Given the description of an element on the screen output the (x, y) to click on. 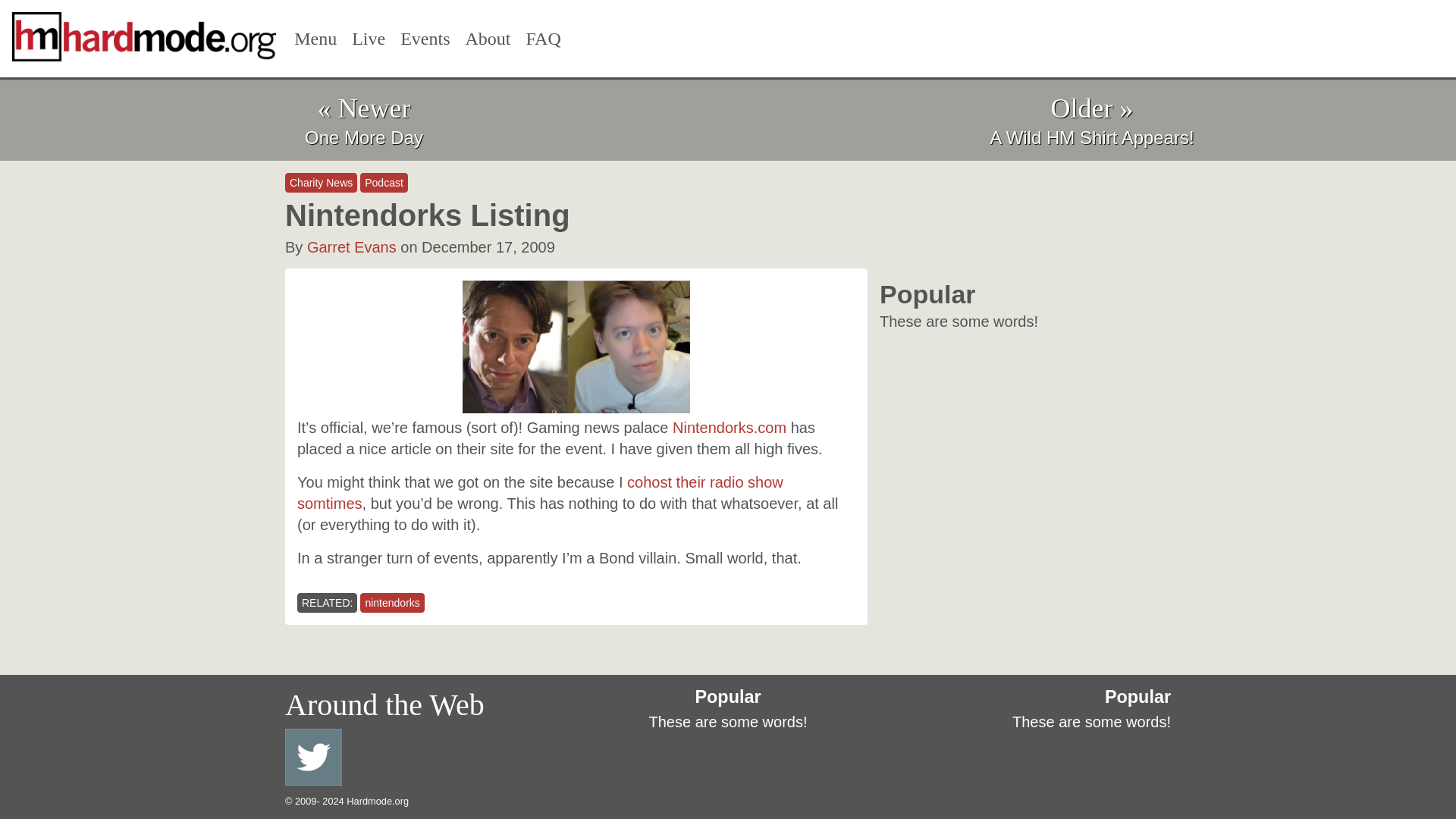
Podcast (383, 182)
Menu (315, 38)
FAQ (543, 38)
Charity News (320, 182)
Posts by Garret Evans (351, 247)
About (488, 38)
nintendorks (391, 602)
Events (424, 38)
Live (368, 38)
villain (576, 346)
Nintendorks.com (729, 427)
cohost their radio show somtimes (540, 492)
Garret Evans (351, 247)
HM Twitter (313, 756)
